Given the description of an element on the screen output the (x, y) to click on. 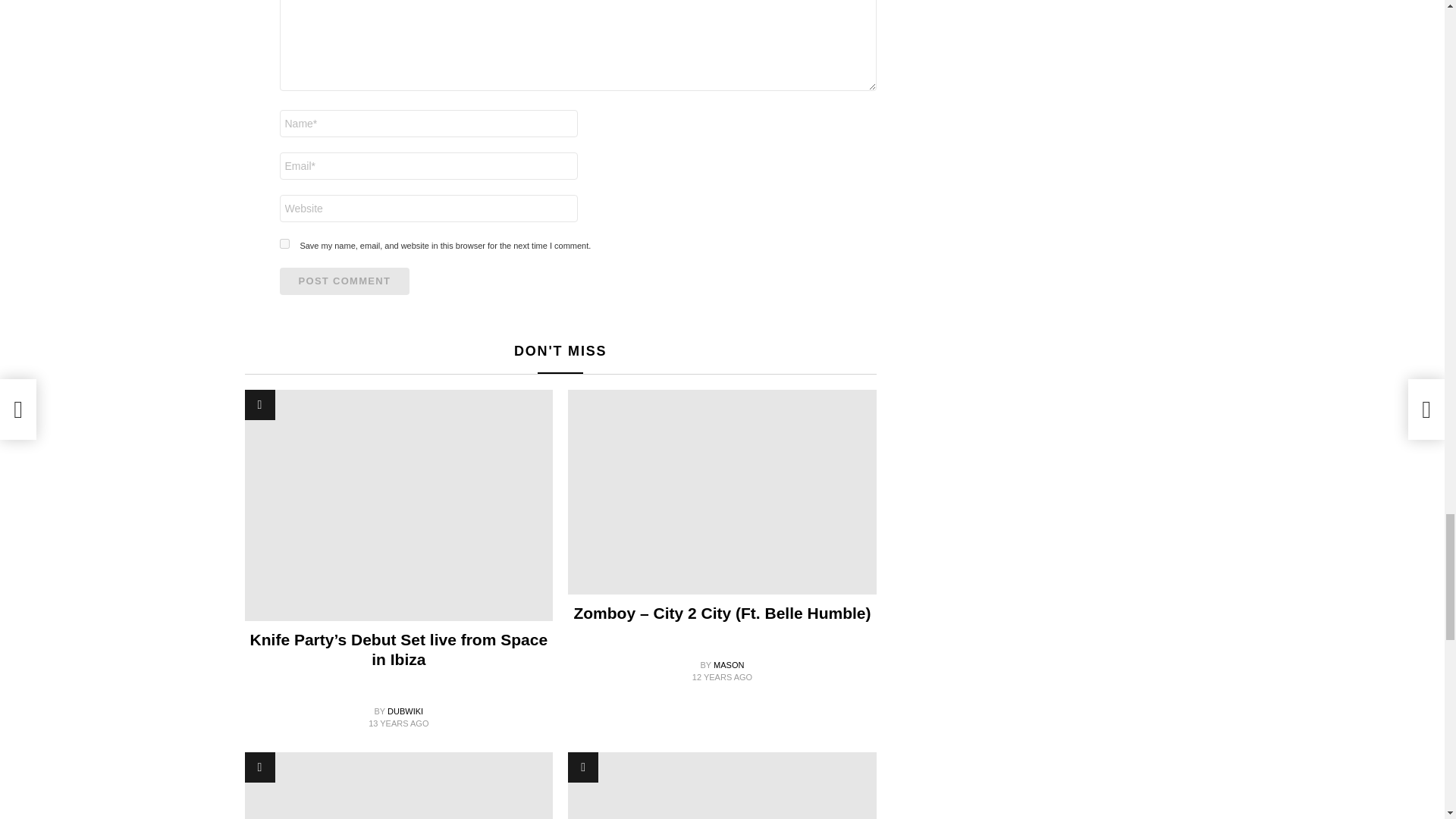
yes (283, 243)
Post Comment (344, 280)
